Given the description of an element on the screen output the (x, y) to click on. 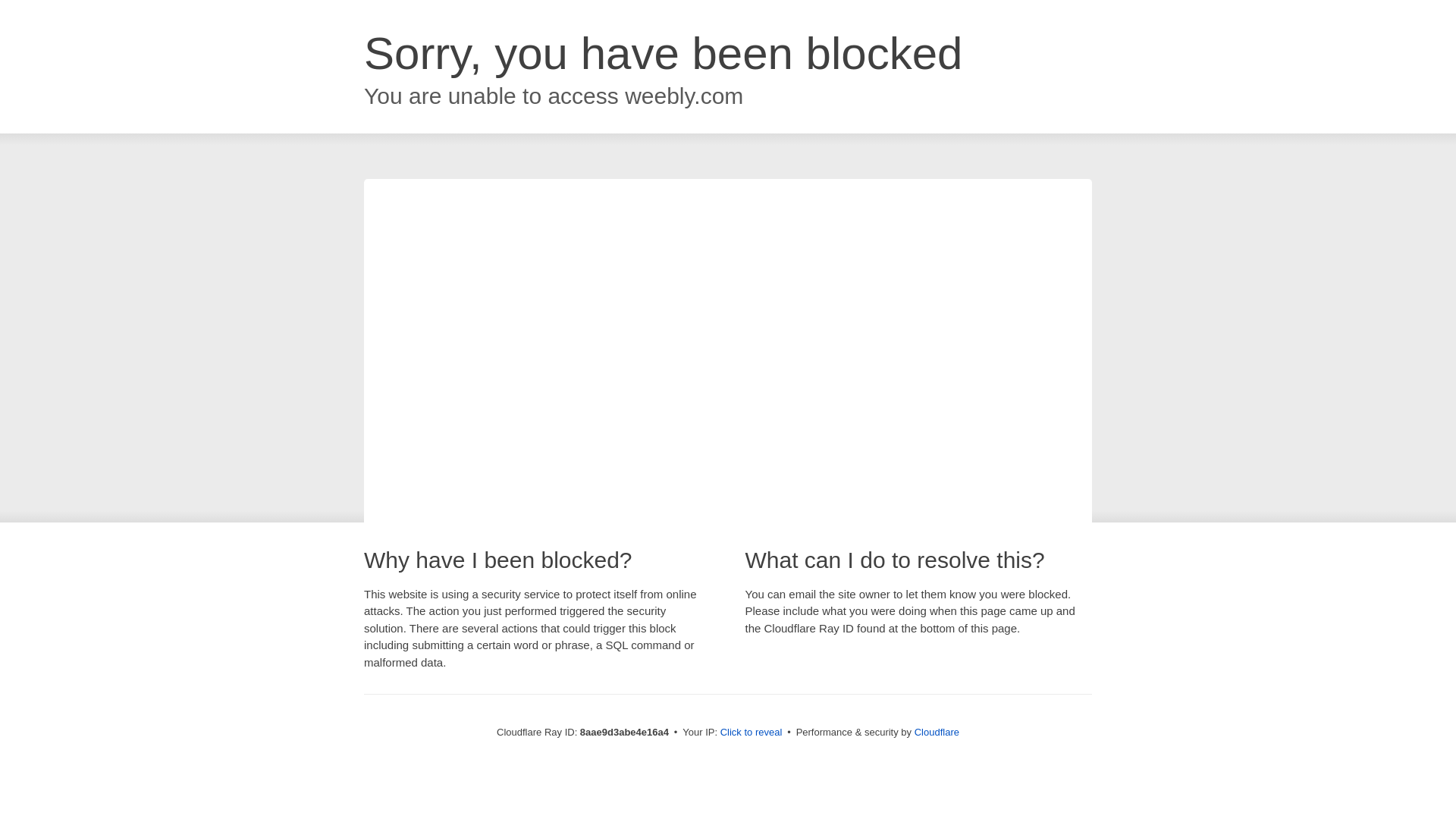
Cloudflare (936, 731)
Click to reveal (751, 732)
